Given the description of an element on the screen output the (x, y) to click on. 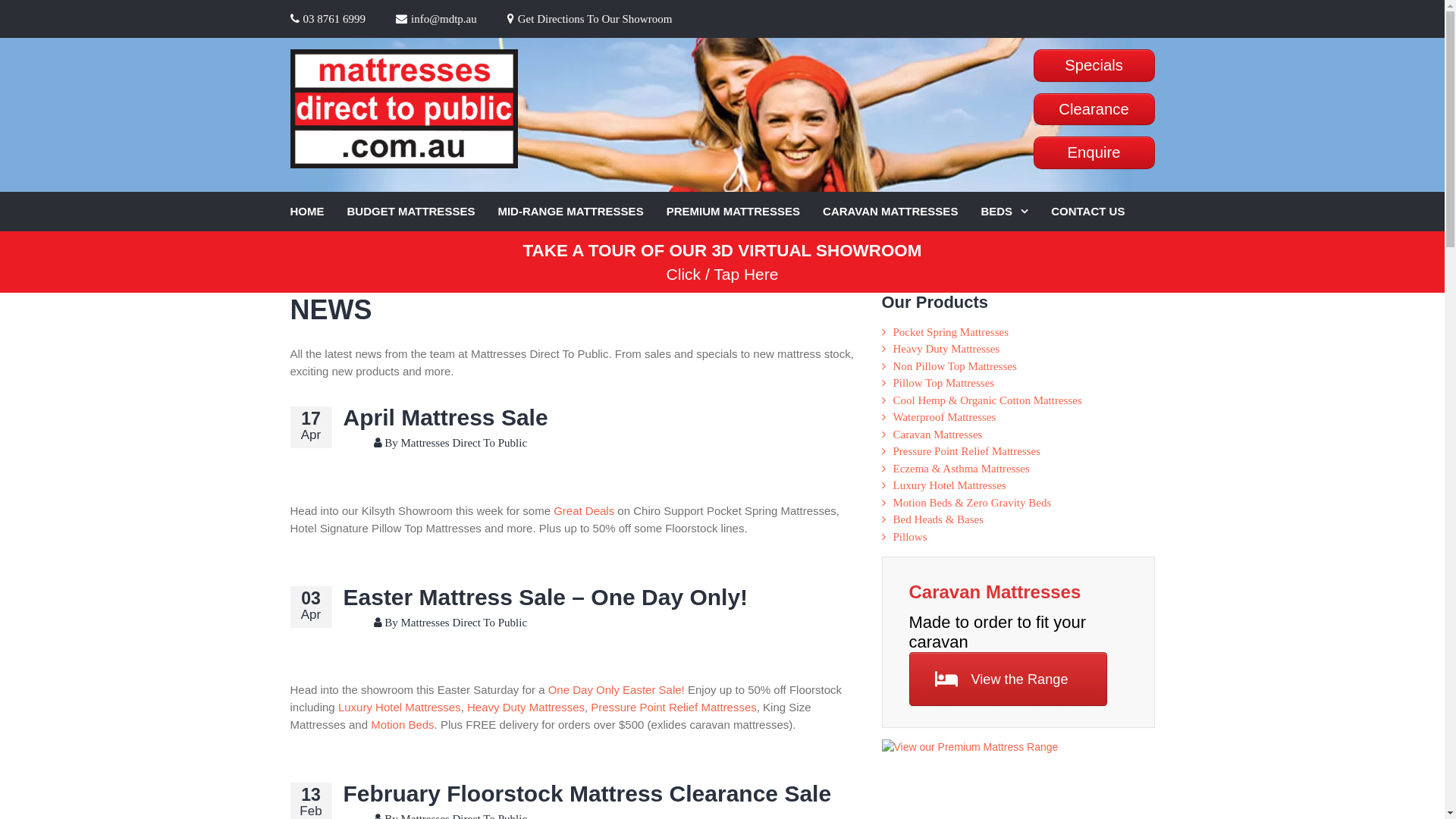
Eczema & Asthma Mattresses Element type: text (961, 468)
Great Deals Element type: text (583, 510)
View the Range Element type: text (1007, 679)
Caravan Mattresses Element type: text (937, 434)
April Mattress Sale Element type: text (444, 416)
February Floorstock Mattress Clearance Sale Element type: text (586, 793)
CONTACT US Element type: text (1099, 211)
CARAVAN MATTRESSES Element type: text (901, 211)
TAKE A TOUR OF OUR 3D VIRTUAL SHOWROOM Element type: text (722, 250)
PREMIUM MATTRESSES Element type: text (744, 211)
HOME Element type: text (317, 211)
Motion Beds & Zero Gravity Beds Element type: text (972, 502)
Cool Hemp & Organic Cotton Mattresses Element type: text (987, 400)
Heavy Duty Mattresses Element type: text (946, 348)
Luxury Hotel Mattresses Element type: text (949, 485)
BUDGET MATTRESSES Element type: text (422, 211)
Click / Tap Here Element type: text (722, 273)
One Day Only Easter Sale! Element type: text (616, 689)
Non Pillow Top Mattresses Element type: text (954, 366)
Pocket Spring Mattresses Element type: text (950, 332)
Heavy Duty Mattresses Element type: text (525, 706)
Specials Element type: text (1093, 65)
Pillows Element type: text (910, 536)
Pillow Top Mattresses Element type: text (943, 382)
03 8761 6999 Element type: text (327, 18)
info@mdtp.au Element type: text (435, 18)
Waterproof Mattresses Element type: text (944, 417)
Clearance Element type: text (1093, 109)
BEDS Element type: text (1015, 211)
MID-RANGE MATTRESSES Element type: text (581, 211)
Get Directions To Our Showroom Element type: text (589, 18)
Bed Heads & Bases Element type: text (938, 519)
Pressure Point Relief Mattresses Element type: text (673, 706)
Luxury Hotel Mattresses Element type: text (399, 706)
Motion Beds Element type: text (401, 724)
Enquire Element type: text (1093, 152)
Pressure Point Relief Mattresses Element type: text (967, 451)
